Given the description of an element on the screen output the (x, y) to click on. 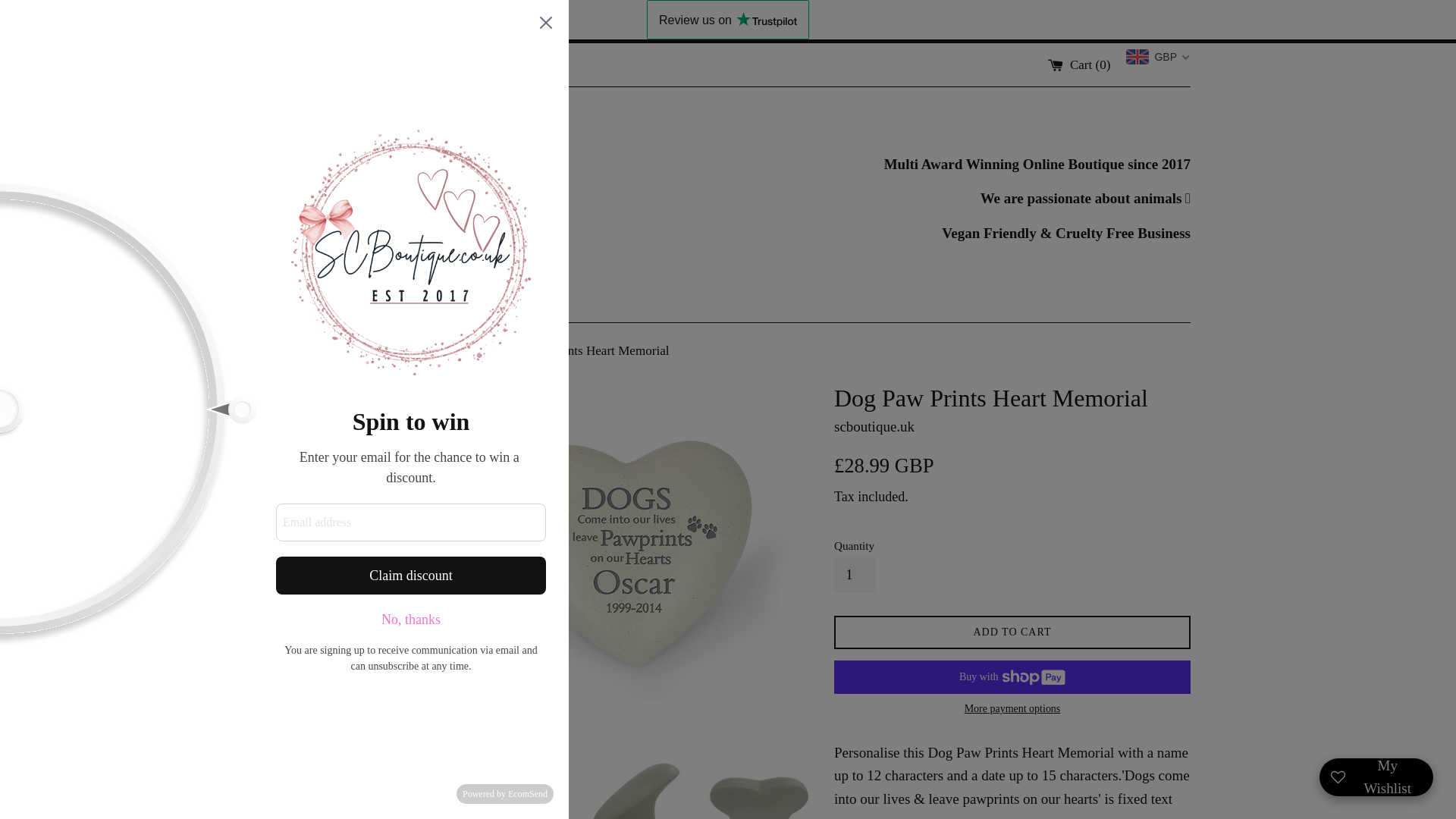
Powered by EcomSend (505, 793)
All Products (348, 379)
Sign up (525, 64)
1 (855, 574)
What's New... (348, 494)
Search (276, 63)
Log in (471, 64)
Become An Ambassador (348, 418)
Back to the frontpage (471, 350)
Homepage (348, 341)
SALE ! (348, 456)
